Given the description of an element on the screen output the (x, y) to click on. 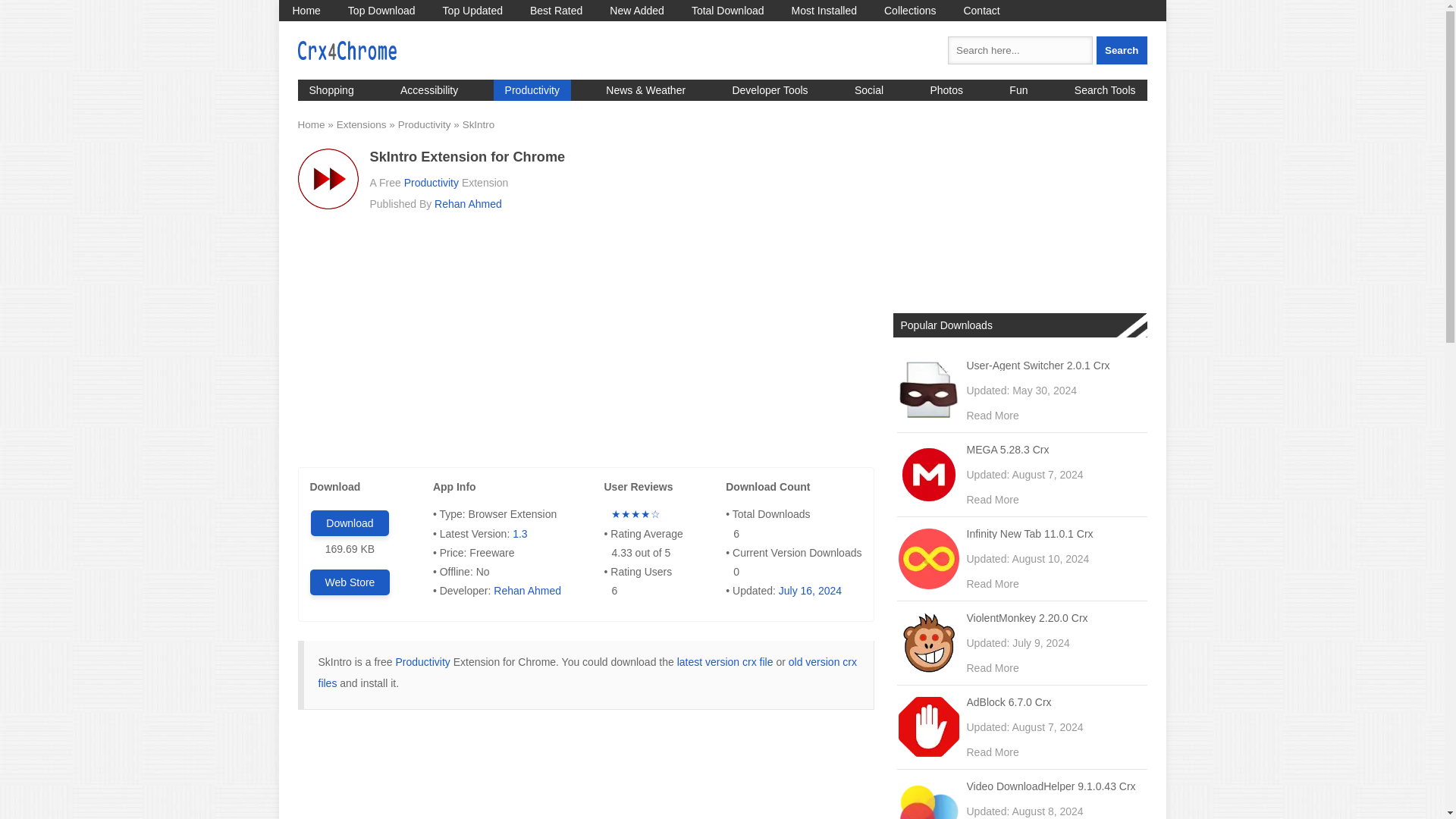
Most Installed (823, 10)
Photos (946, 89)
Home (306, 10)
Search Tools (1104, 89)
Best Rated (555, 10)
Top Download (381, 10)
Search (1121, 50)
Accessibility (428, 89)
Top Updated (472, 10)
Home (306, 10)
